Given the description of an element on the screen output the (x, y) to click on. 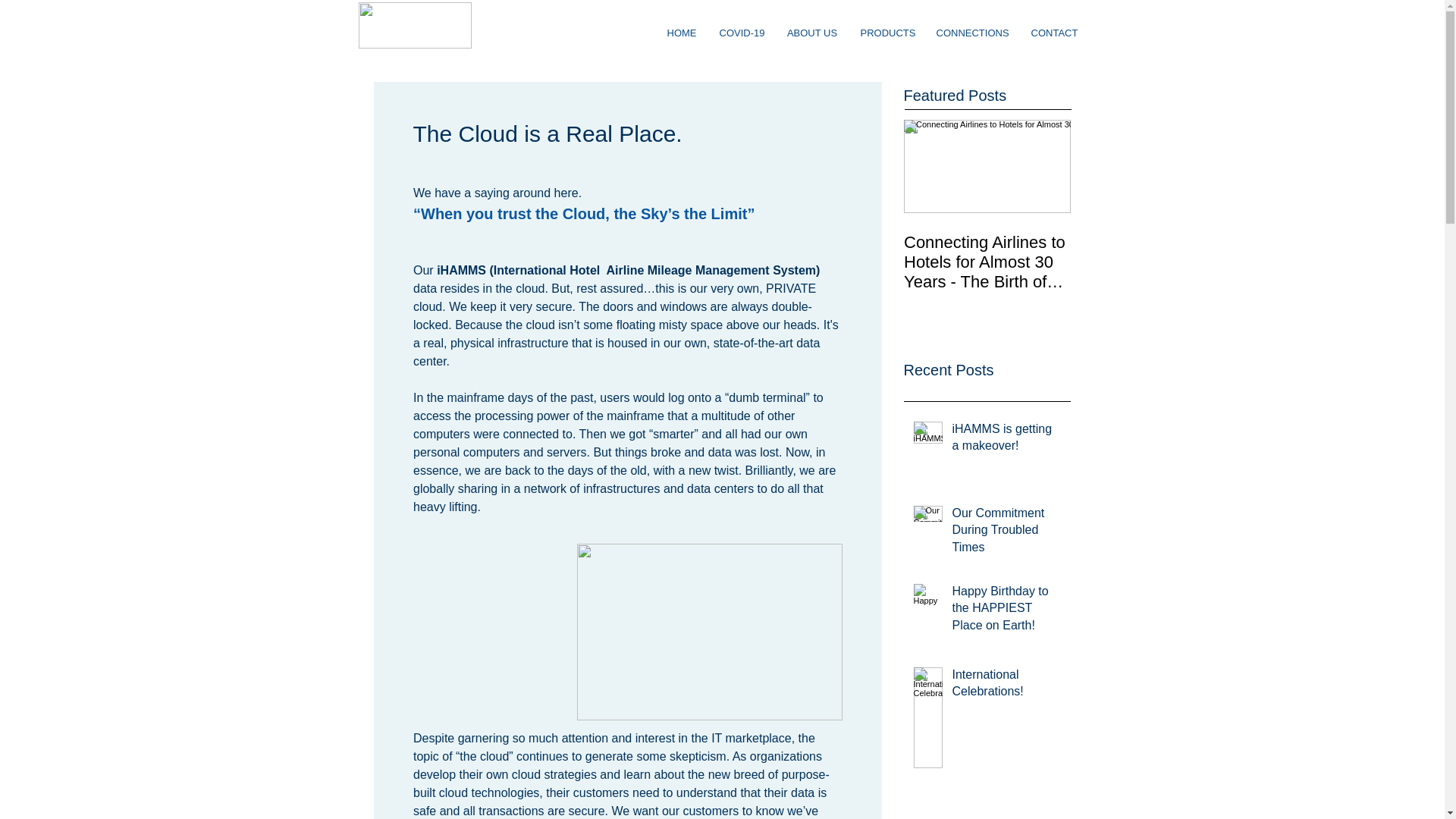
Our Commitment During Troubled Times (1006, 533)
CONTACT (1054, 32)
ABOUT US (811, 32)
PRODUCTS (886, 32)
Happy Birthday to the HAPPIEST Place on Earth! (1006, 611)
International Celebrations! (1006, 686)
iHAMMS is getting a makeover! (1006, 440)
HOME (681, 32)
CONNECTIONS (972, 32)
COVID-19 (741, 32)
